Given the description of an element on the screen output the (x, y) to click on. 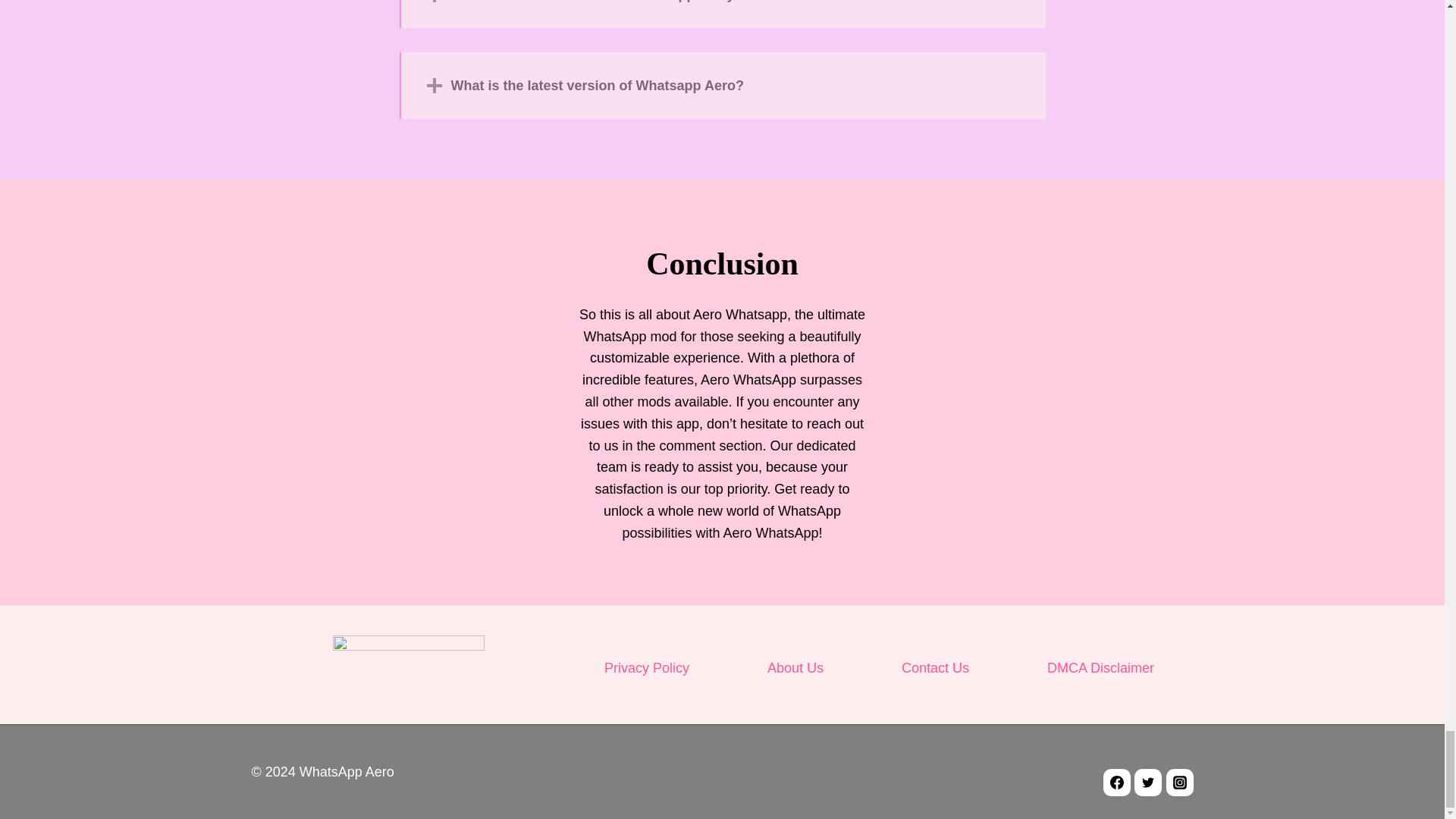
DMCA Disclaimer (1100, 667)
Privacy Policy (646, 667)
Can I create themes in aero whatsapp at my own? (721, 13)
What is the latest version of Whatsapp Aero? (721, 85)
About Us (794, 667)
Contact Us (935, 667)
